Given the description of an element on the screen output the (x, y) to click on. 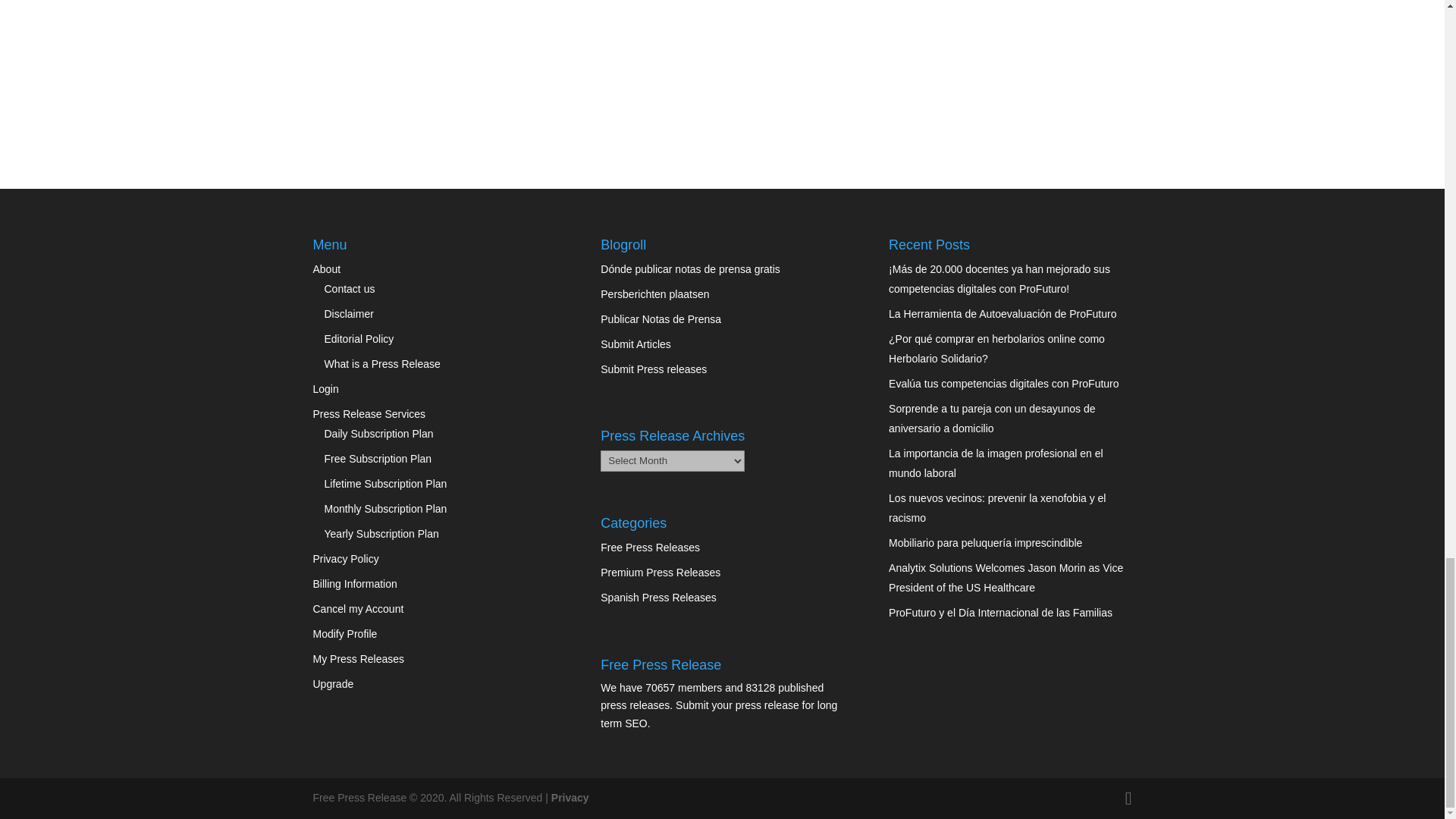
Modify Profile (345, 633)
Submit Articles (635, 344)
Lifetime Subscription Plan (385, 483)
Yearly Subscription Plan (381, 533)
Editorial Policy (359, 338)
Free Subscription Plan (378, 458)
Contact us (349, 288)
About (326, 268)
Login (325, 388)
Persberichten plaatsen (654, 294)
Monthly Subscription Plan (385, 508)
Press Release Services (369, 413)
Daily Subscription Plan (378, 433)
Cancel my Account (358, 608)
What is a Press Release (382, 363)
